Given the description of an element on the screen output the (x, y) to click on. 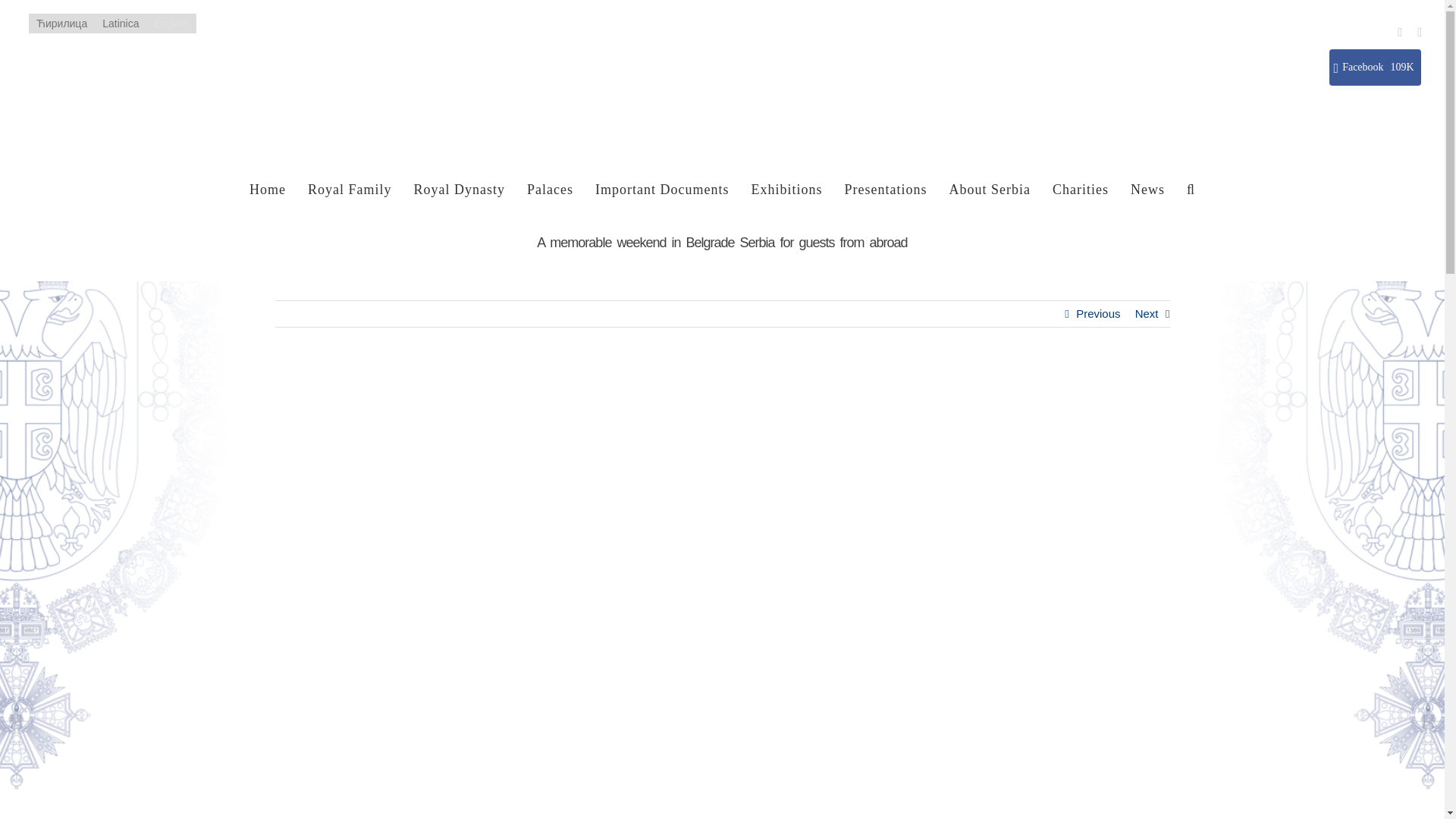
Home (266, 189)
Royal Family (349, 189)
Latinica (120, 23)
Facebook 109K (1375, 67)
Royal Dynasty (459, 189)
English (171, 23)
